Given the description of an element on the screen output the (x, y) to click on. 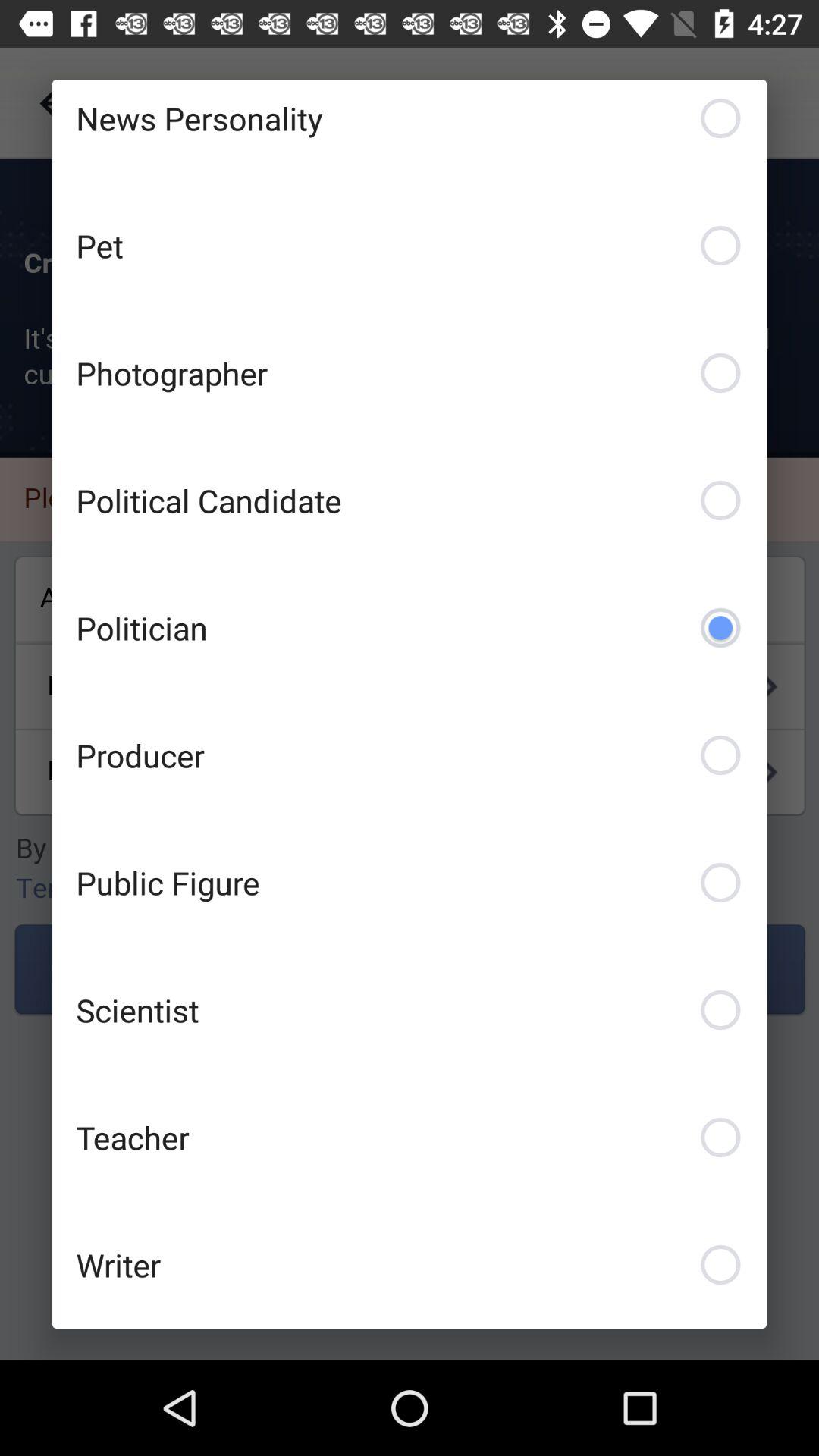
launch the icon above politician item (409, 500)
